Given the description of an element on the screen output the (x, y) to click on. 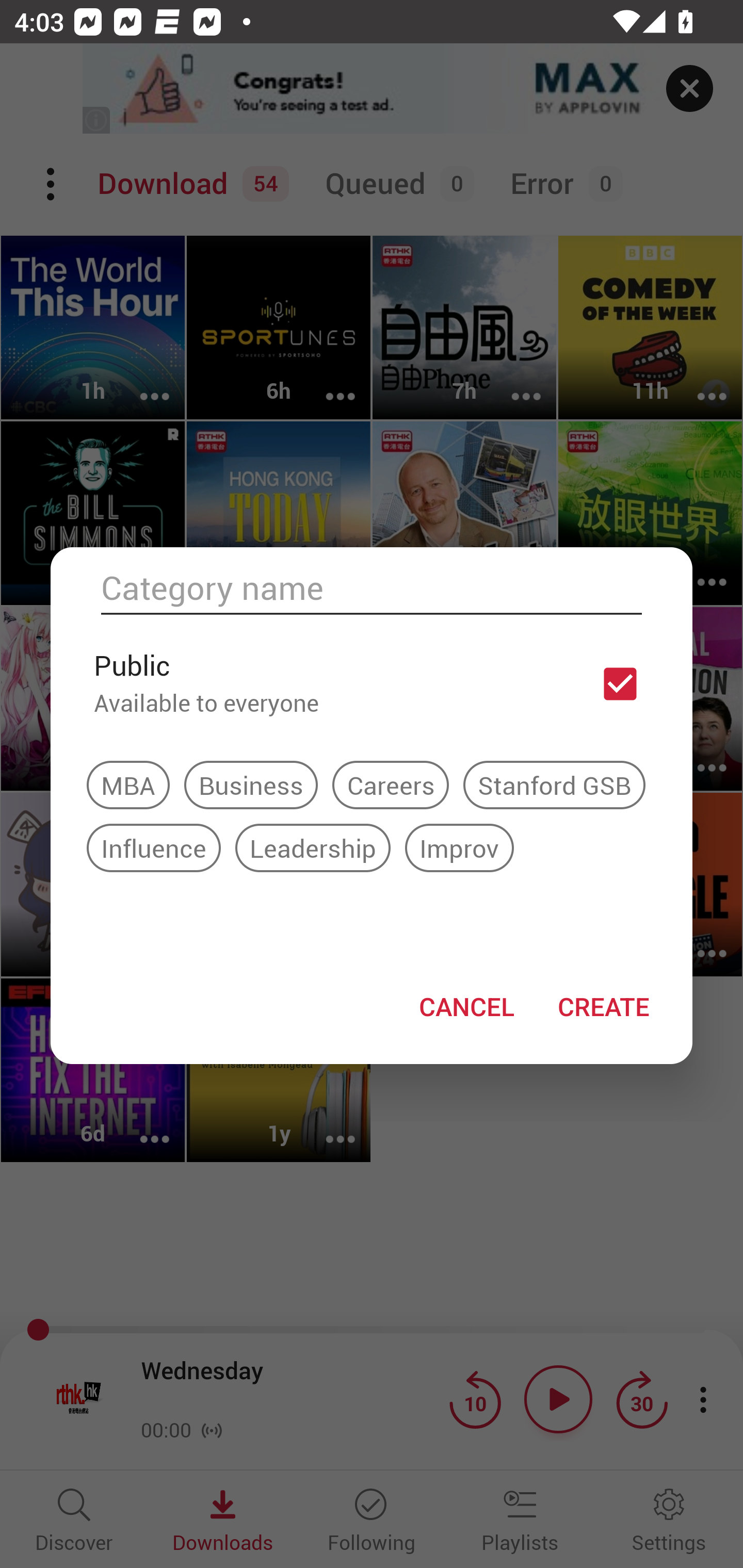
Category name (371, 587)
Public Available to everyone (371, 683)
MBA (127, 784)
Business (251, 784)
Careers (390, 784)
Stanford GSB (554, 784)
Influence (153, 847)
Leadership (312, 847)
Improv (459, 847)
CANCEL (465, 1005)
CREATE (602, 1005)
